Given the description of an element on the screen output the (x, y) to click on. 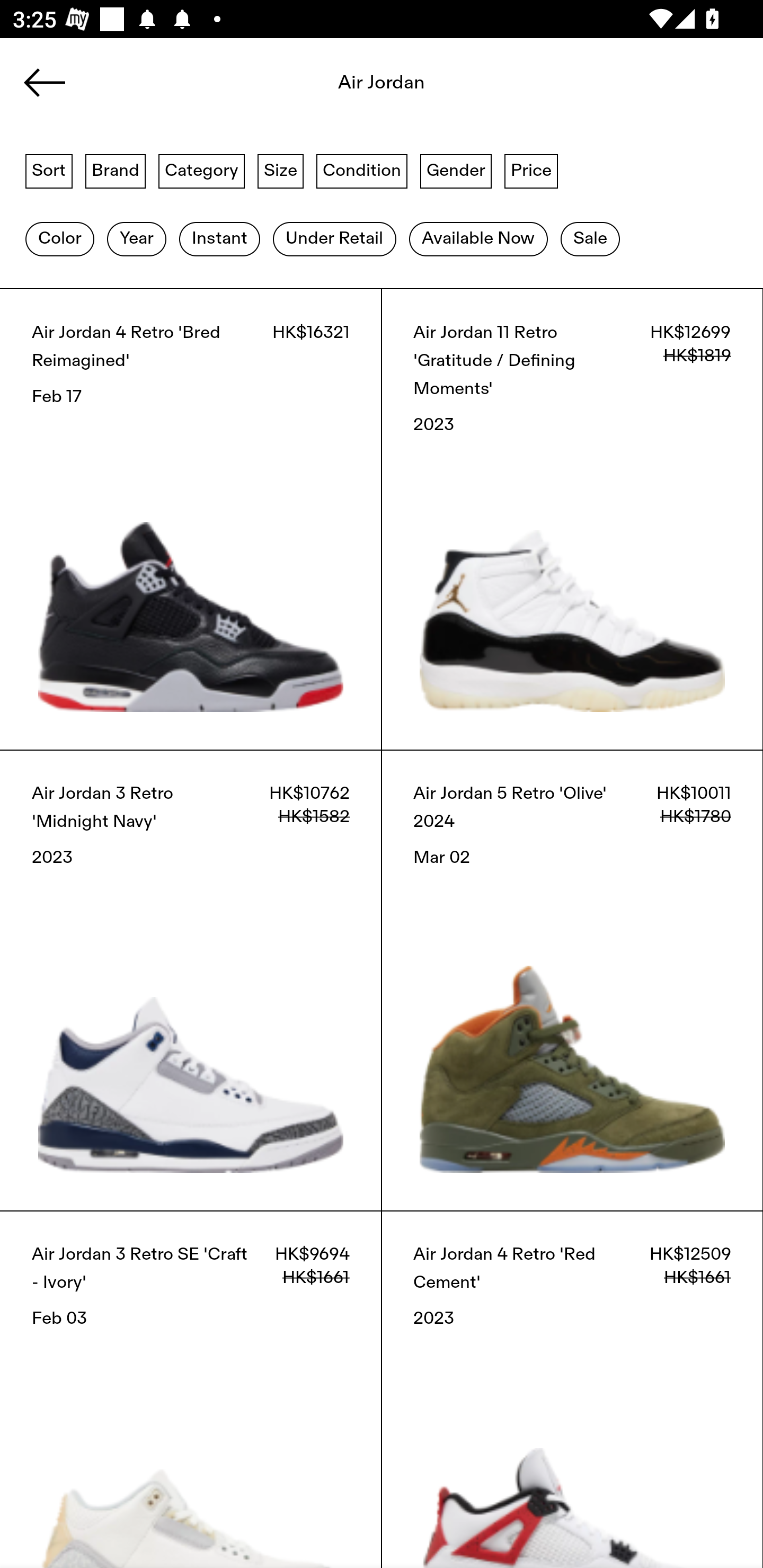
Search (381, 88)
Sort (48, 170)
Brand (115, 170)
Category (201, 170)
Size (280, 170)
Condition (361, 170)
Gender (455, 170)
Price (530, 170)
Color (59, 239)
Year (136, 239)
Instant (219, 239)
Under Retail (334, 239)
Available Now (477, 239)
Sale (589, 239)
